Given the description of an element on the screen output the (x, y) to click on. 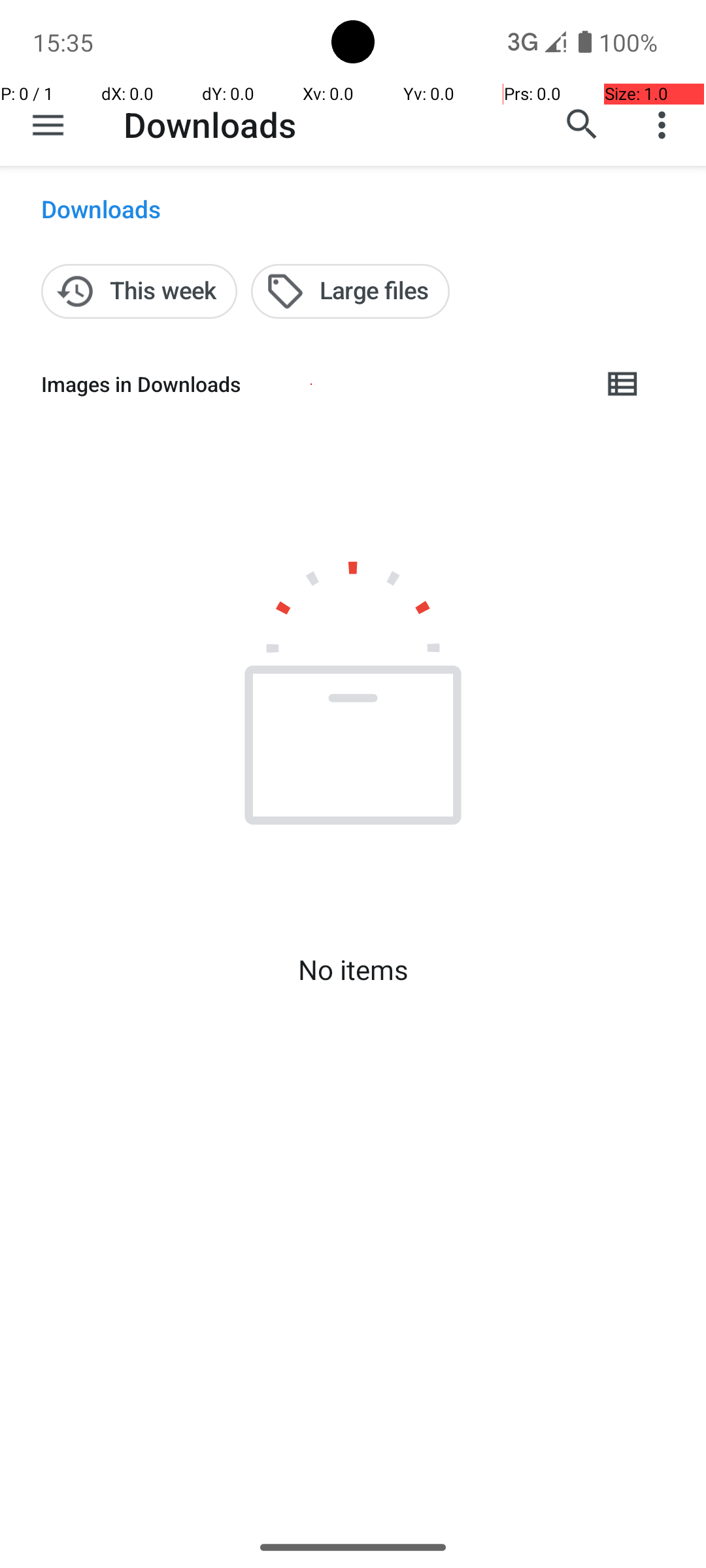
Images in Downloads Element type: android.widget.TextView (311, 383)
